Given the description of an element on the screen output the (x, y) to click on. 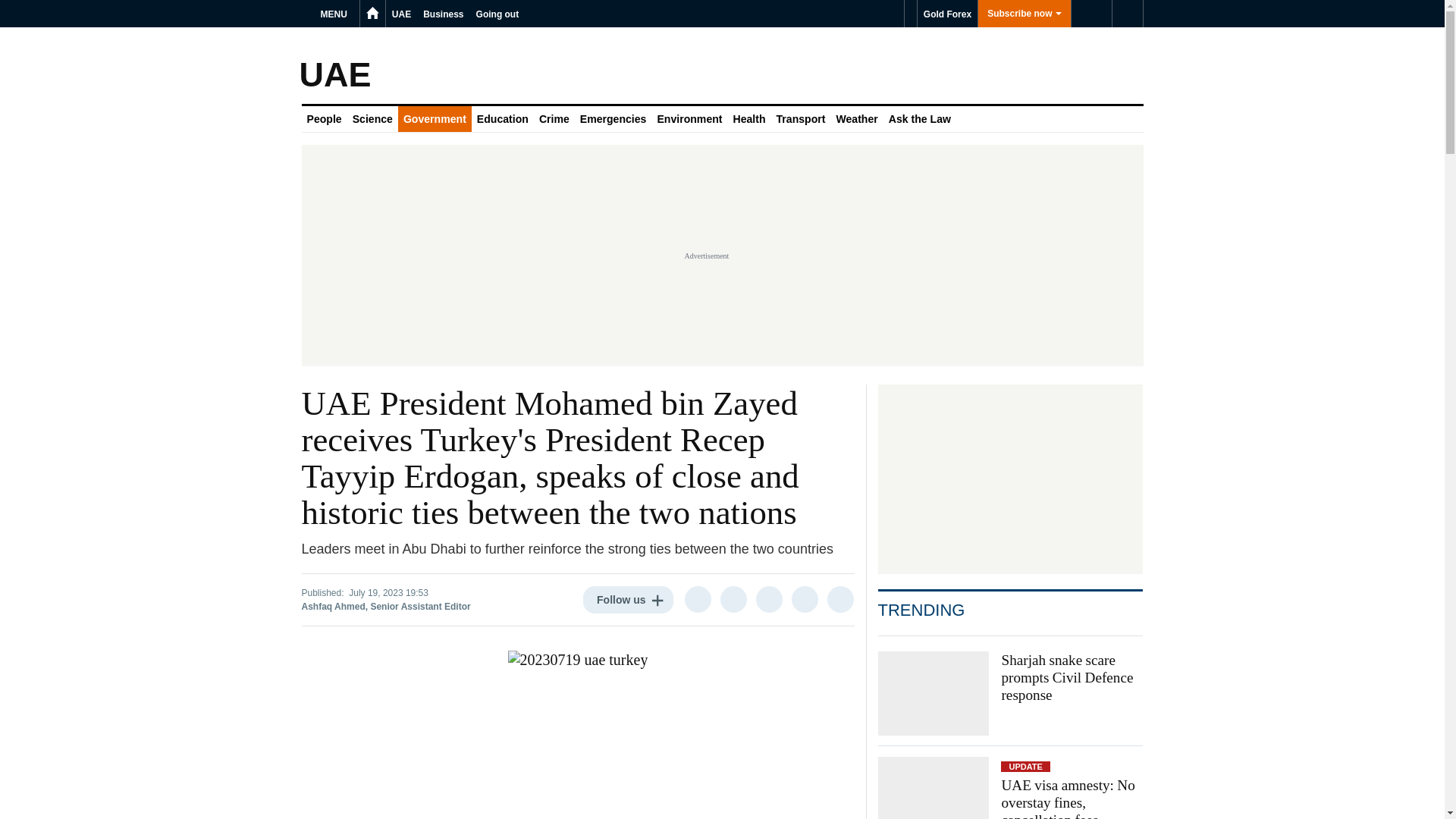
Gold Forex (946, 13)
Business (442, 13)
MENU (336, 13)
Going out (497, 13)
Subscribe now (1024, 13)
UAE (400, 13)
